Given the description of an element on the screen output the (x, y) to click on. 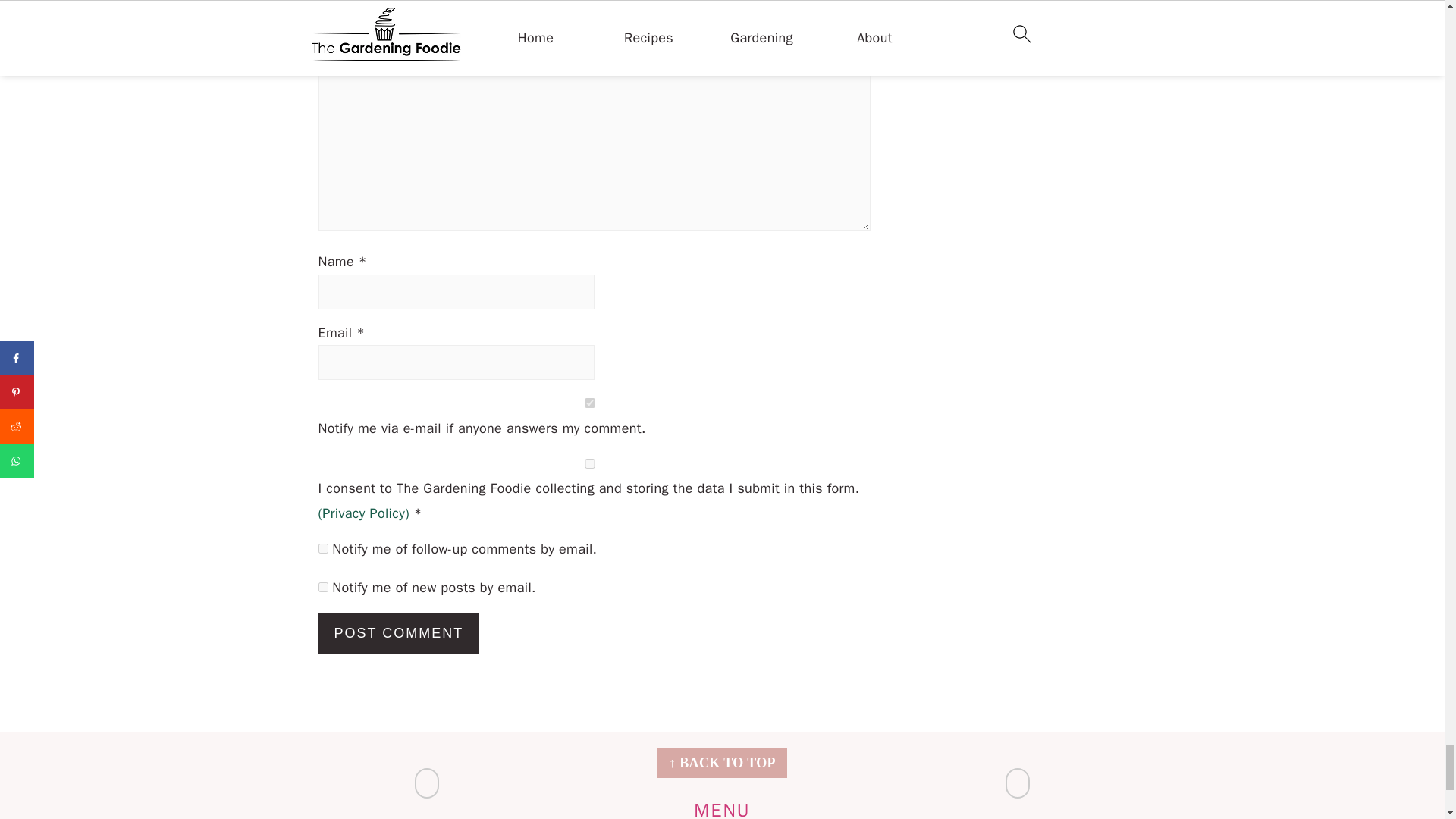
subscribe (323, 548)
Post Comment (399, 633)
subscribe (323, 587)
yes (589, 463)
on (589, 402)
